Given the description of an element on the screen output the (x, y) to click on. 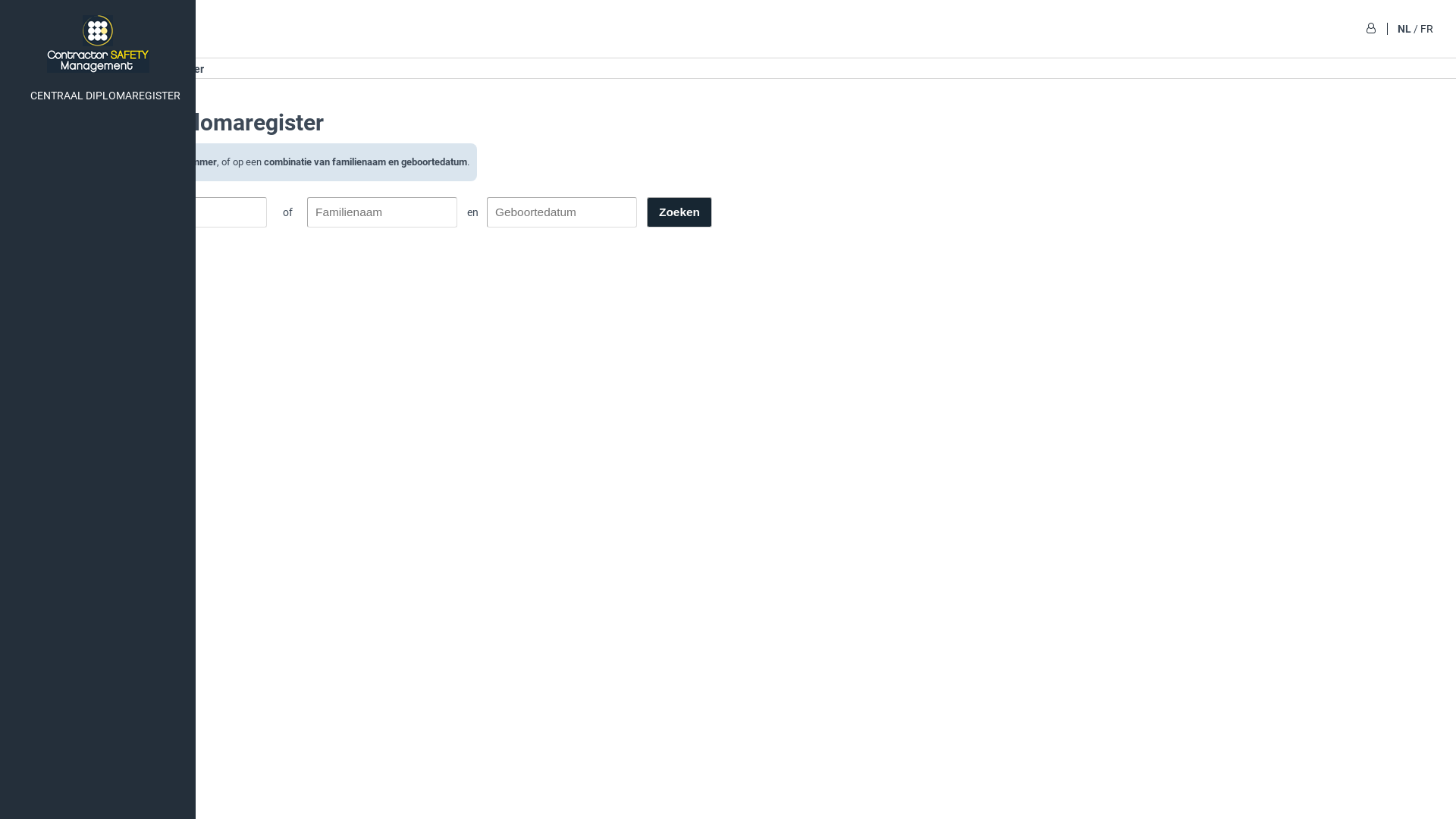
Zoeken Element type: text (679, 212)
CENTRAAL DIPLOMAREGISTER Element type: text (97, 95)
FR Element type: text (1426, 28)
